Given the description of an element on the screen output the (x, y) to click on. 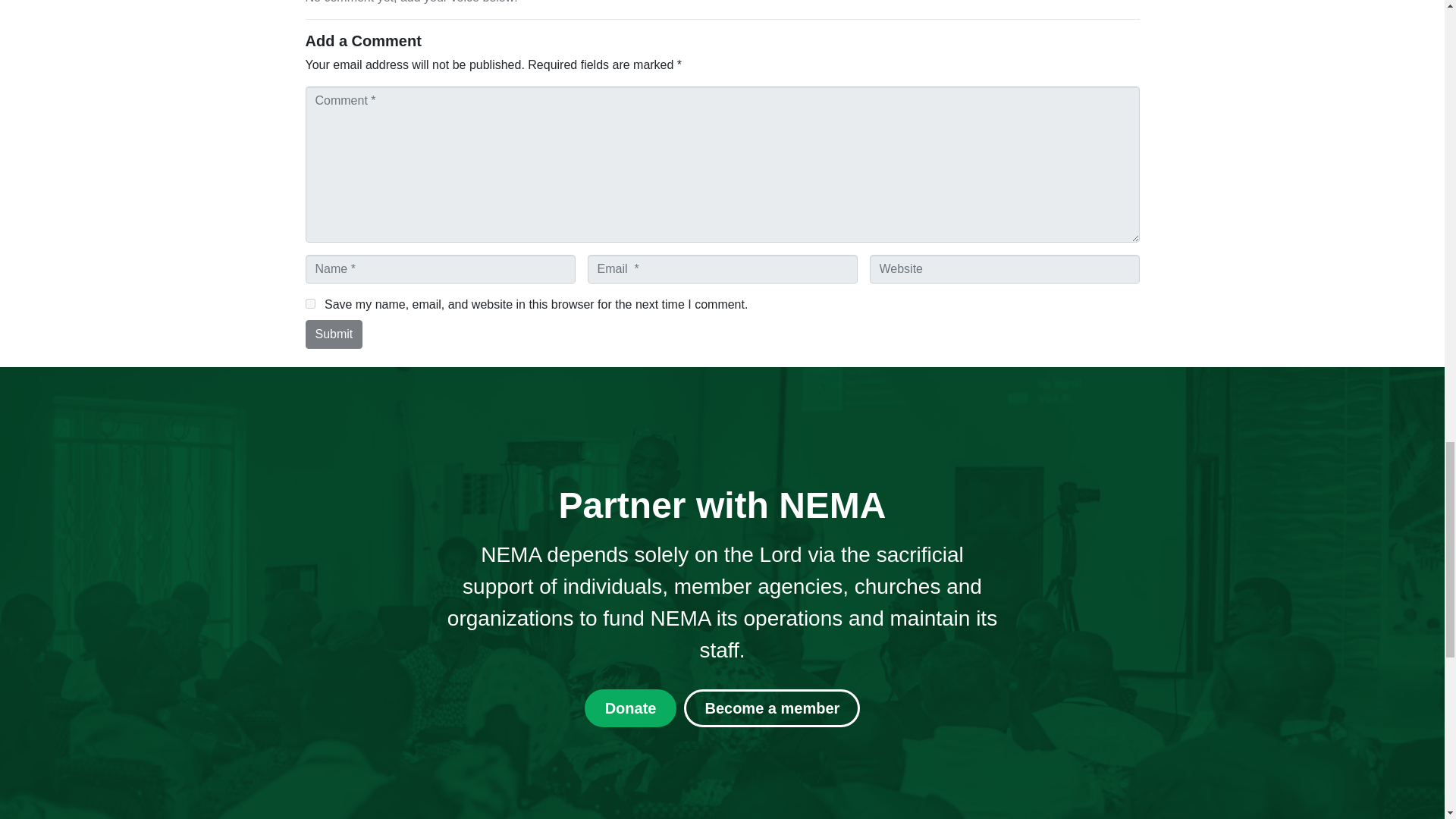
yes (309, 303)
Page 2 (721, 602)
